Given the description of an element on the screen output the (x, y) to click on. 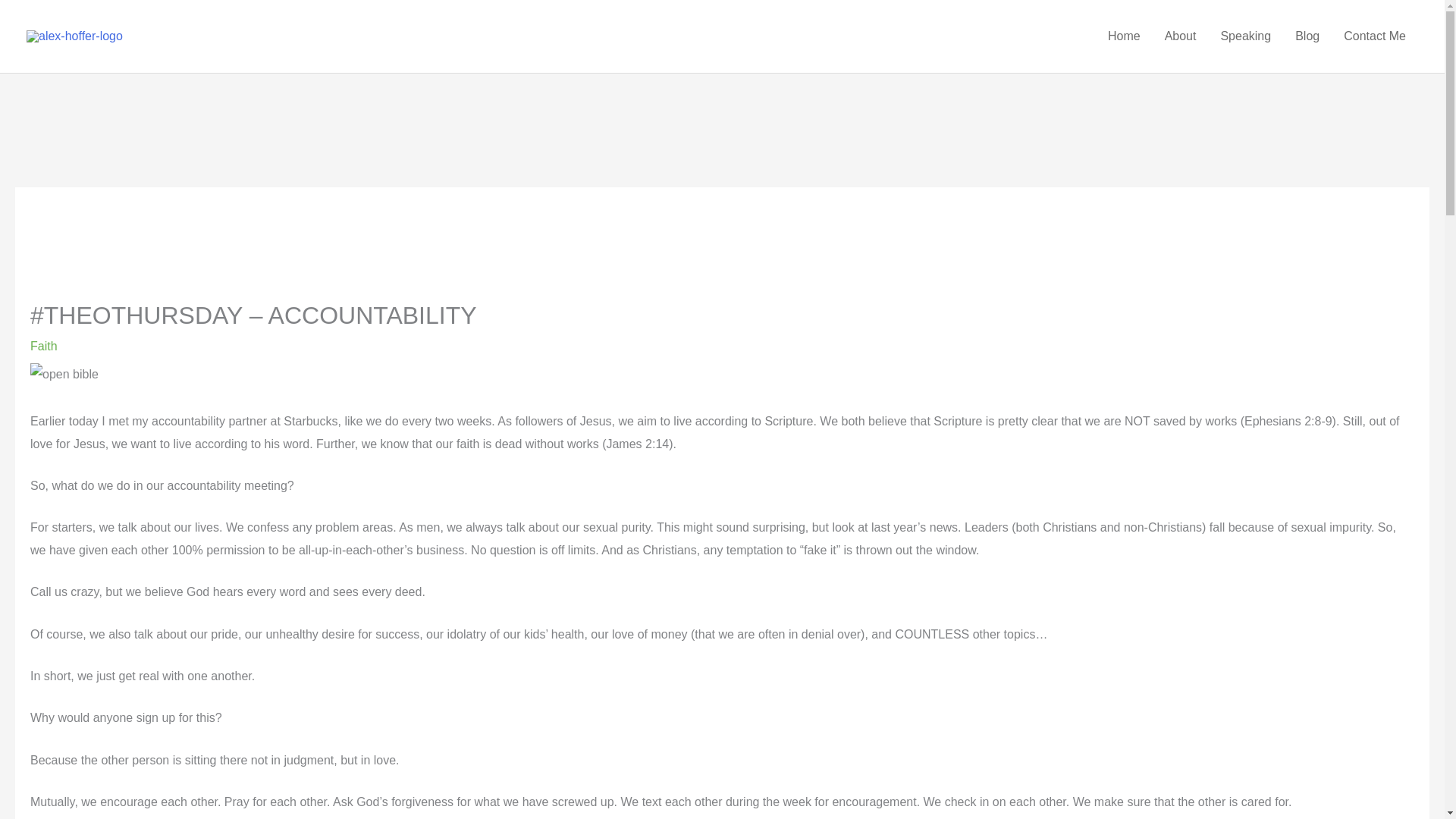
Blog (1307, 36)
Contact Me (1375, 36)
Faith (44, 345)
About (1180, 36)
Home (1124, 36)
Speaking (1245, 36)
